Given the description of an element on the screen output the (x, y) to click on. 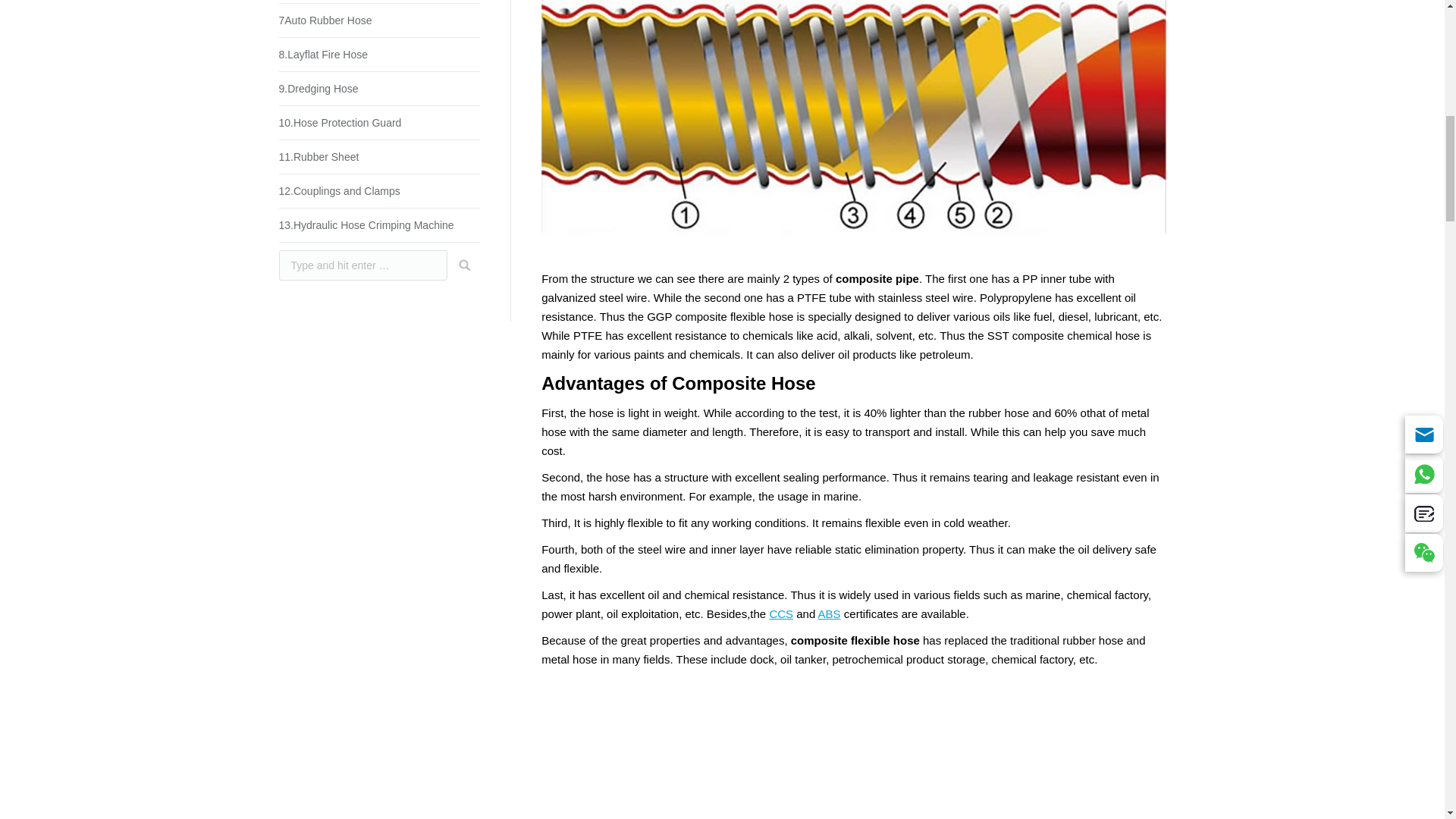
Go! (459, 265)
Go! (459, 265)
